Given the description of an element on the screen output the (x, y) to click on. 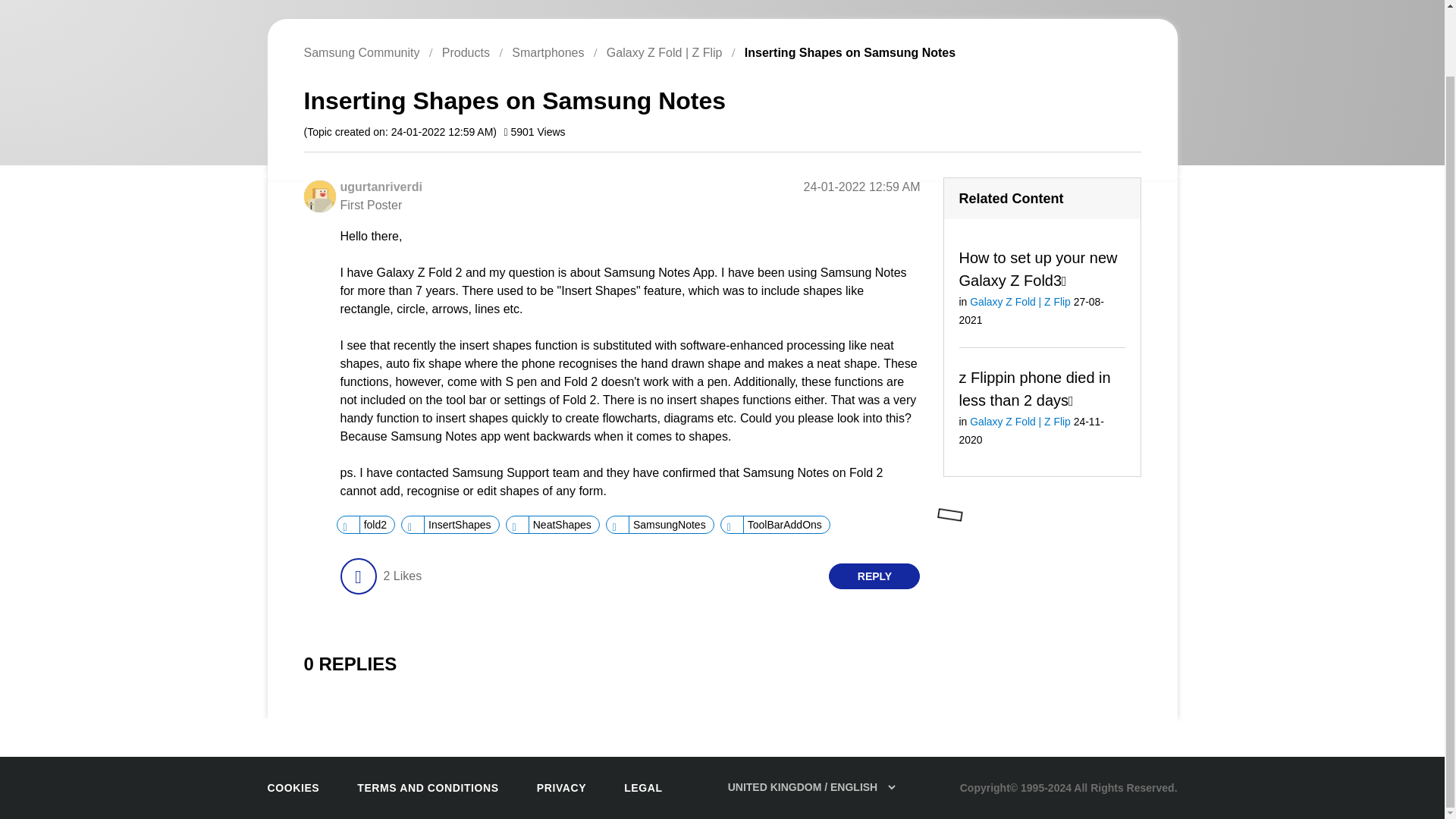
Click here to give likes to this post. (357, 575)
ToolBarAddOns (783, 524)
z Flippin phone died in less than 2 days (1033, 387)
SamsungNotes (669, 524)
InsertShapes (459, 524)
2 Likes (401, 575)
REPLY (874, 575)
ugurtanriverdi (318, 196)
fold2 (374, 524)
How to set up your new Galaxy Z Fold3 (1037, 268)
